Given the description of an element on the screen output the (x, y) to click on. 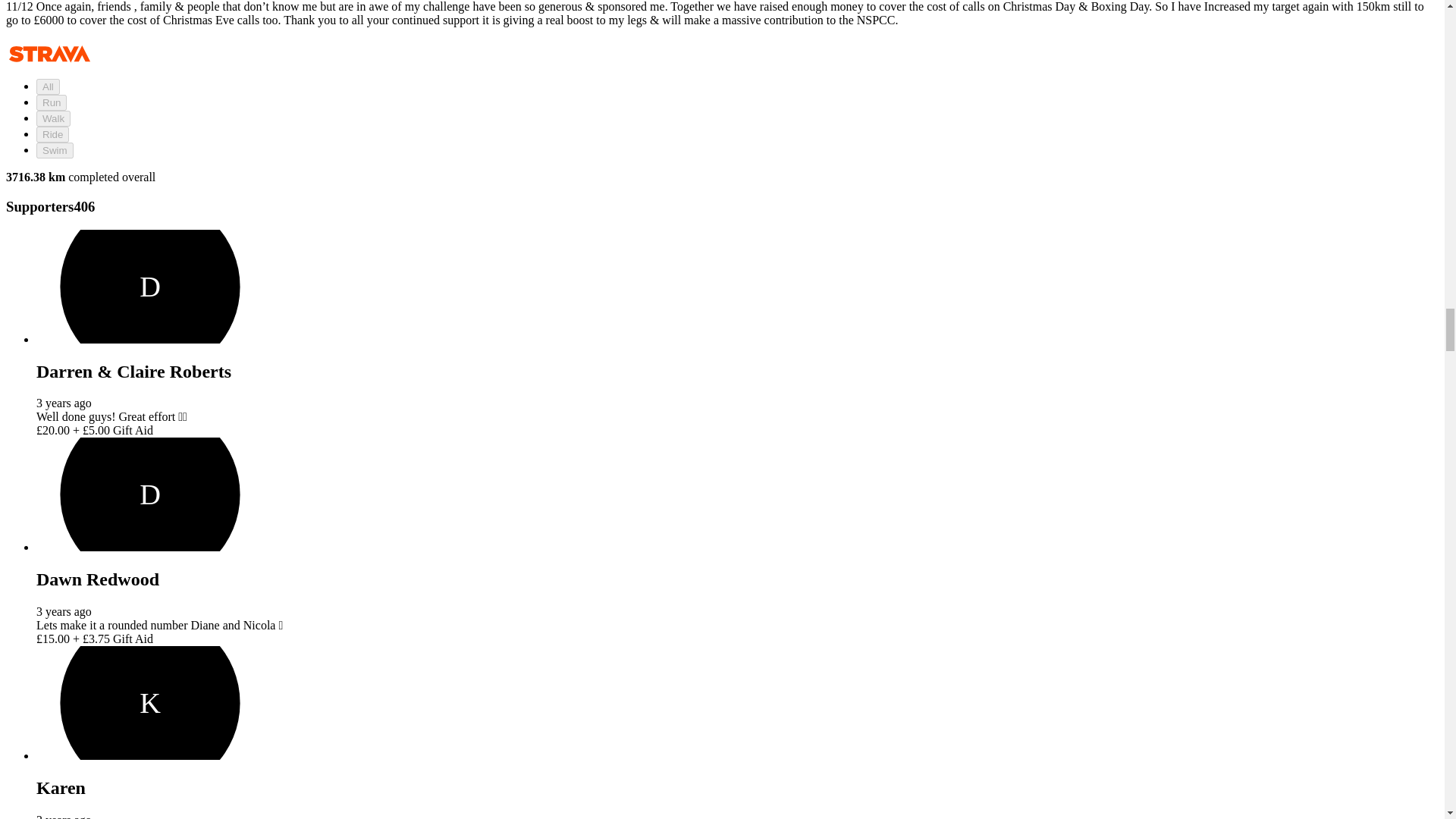
Ride (52, 134)
K (149, 703)
Run (51, 102)
All (47, 86)
D (149, 286)
Swim (55, 150)
Walk (52, 118)
D (149, 494)
